Given the description of an element on the screen output the (x, y) to click on. 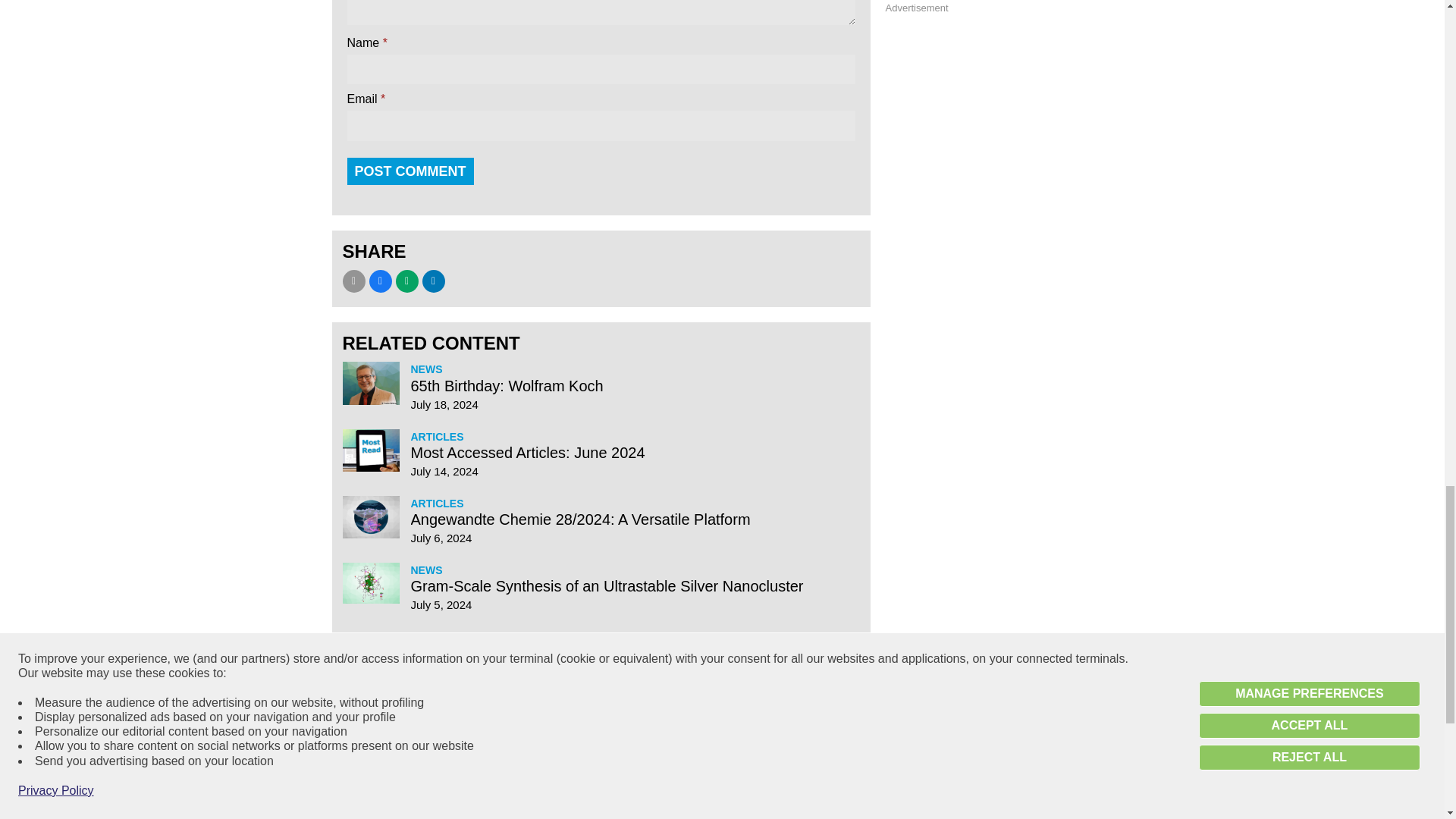
Post Comment (410, 171)
Share on Facebook (379, 281)
Share on LinkedIn (433, 281)
Share on Twitter (407, 281)
Share on Email (353, 281)
